Given the description of an element on the screen output the (x, y) to click on. 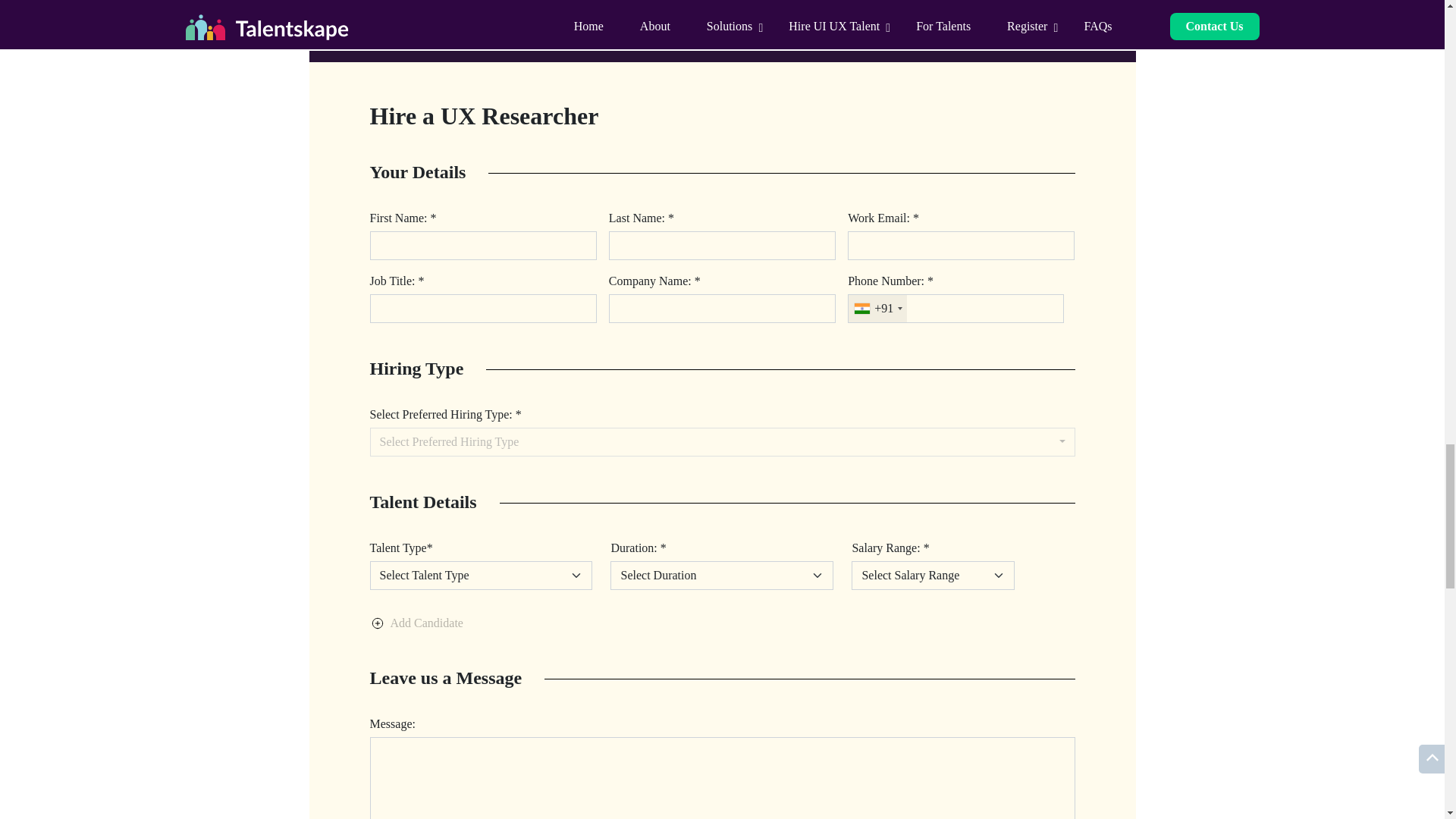
Select Hiring (932, 575)
Select Preferred Hiring Type (722, 441)
Select Talents (480, 575)
Select Hiring (721, 575)
